Given the description of an element on the screen output the (x, y) to click on. 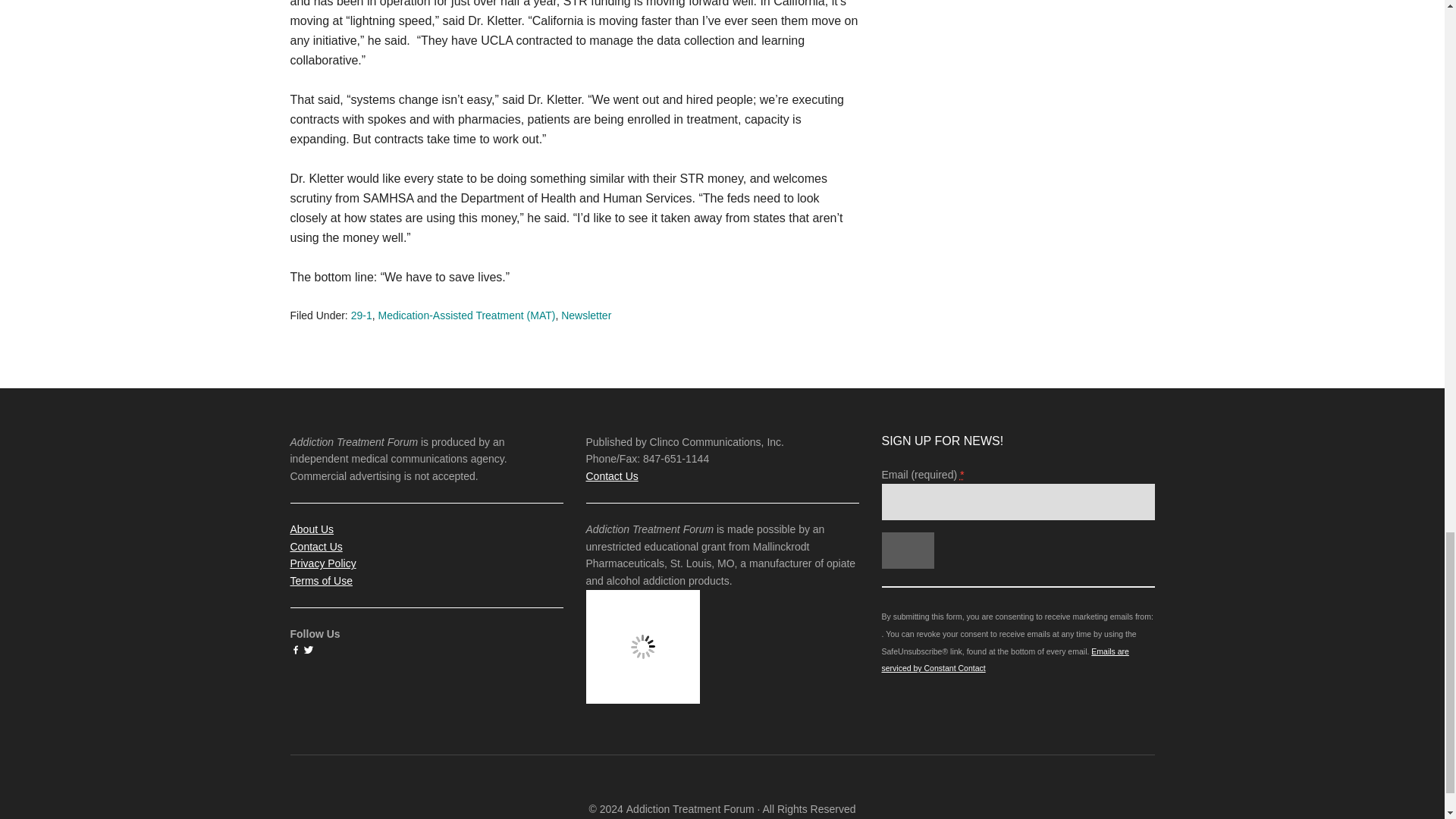
Newsletter (585, 315)
Go (907, 550)
required (961, 474)
29-1 (361, 315)
